Given the description of an element on the screen output the (x, y) to click on. 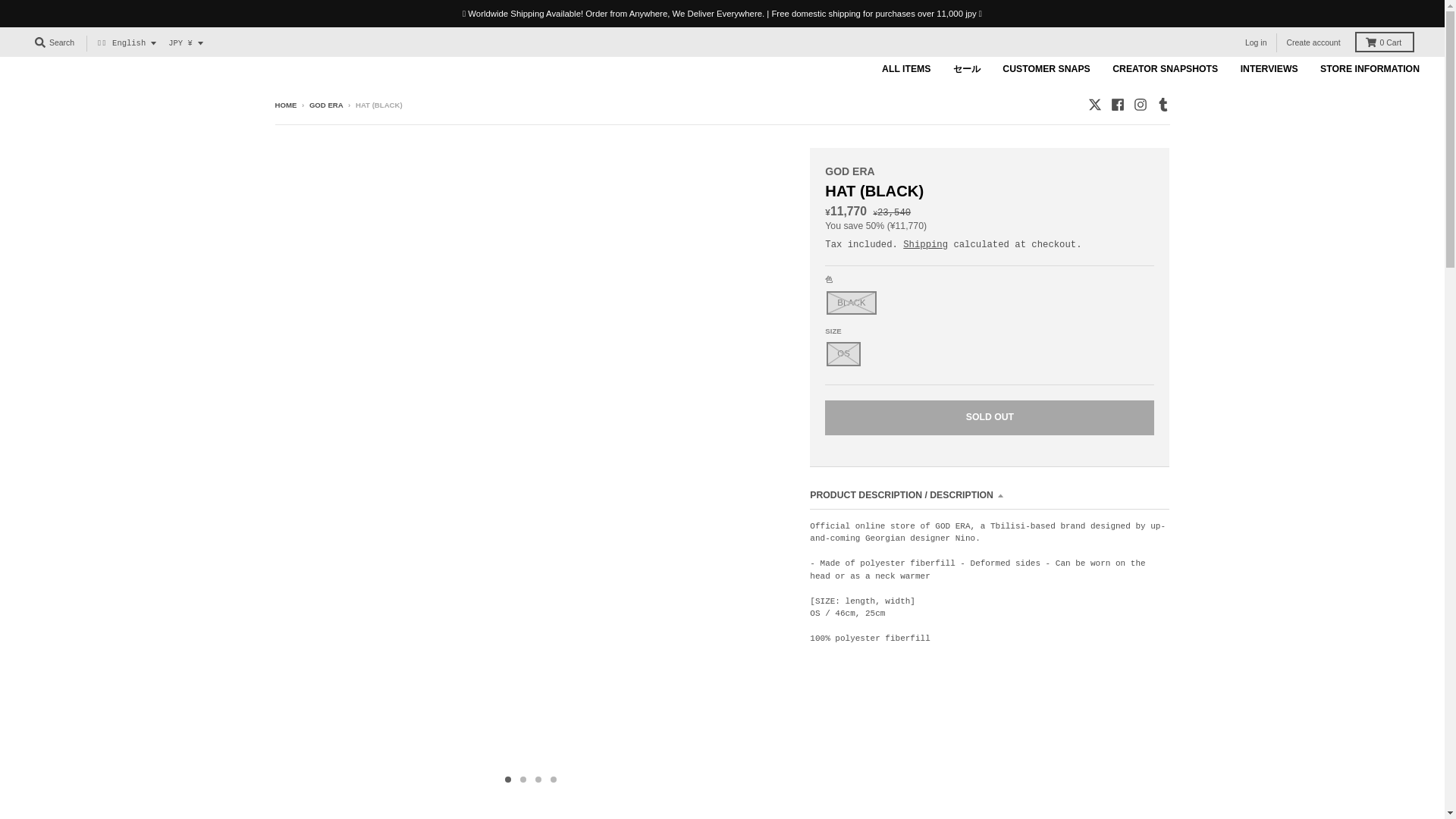
BLACK (851, 302)
Twitter - RADD LOUNGE (1093, 104)
Instagram - RADD LOUNGE (1139, 104)
Back to the frontpage (286, 104)
Tumblr - RADD LOUNGE (1162, 104)
OS (843, 353)
Search (54, 41)
Facebook - RADD LOUNGE (1116, 104)
